Given the description of an element on the screen output the (x, y) to click on. 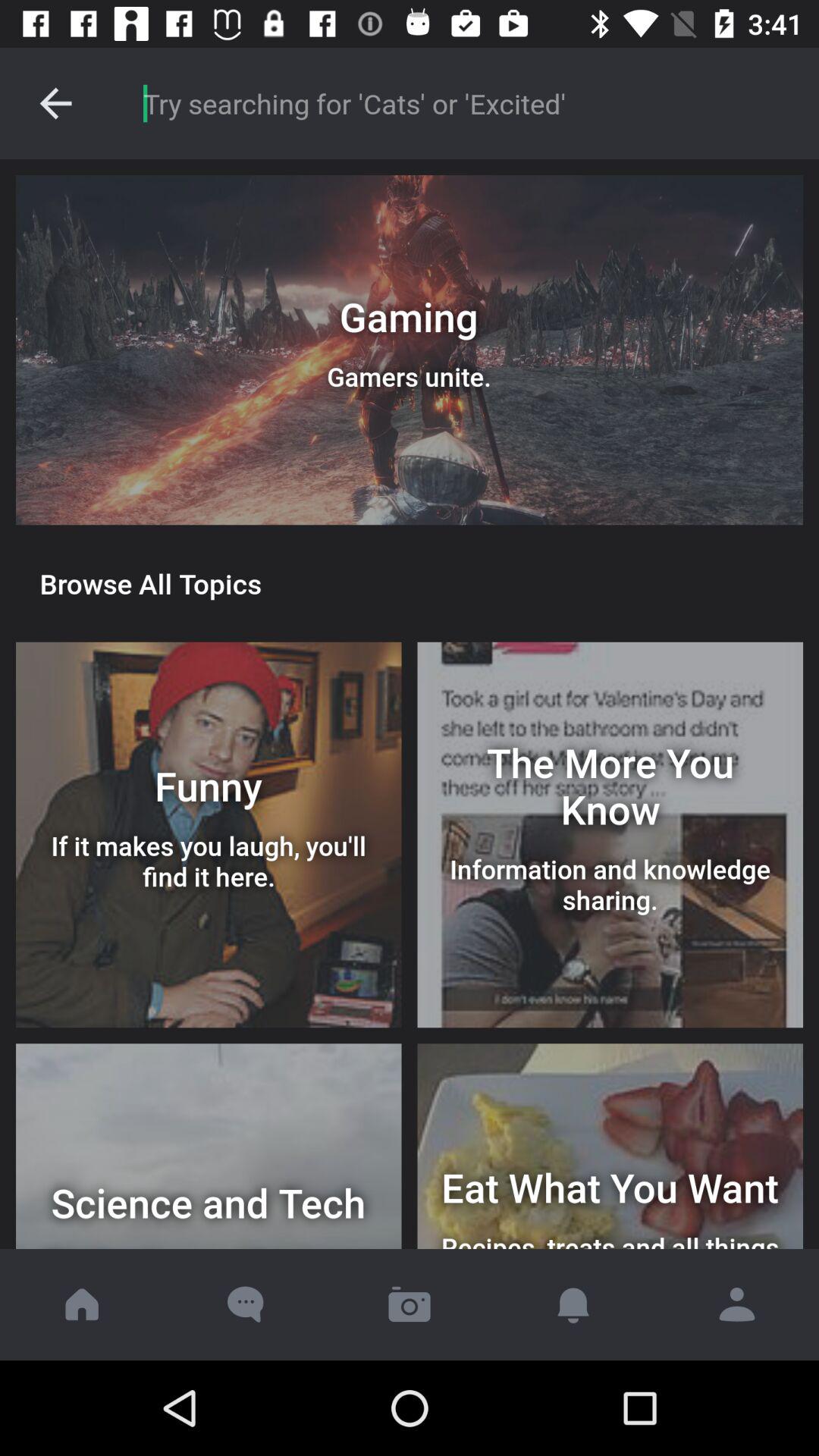
open camera to take picture for upload (409, 1304)
